Given the description of an element on the screen output the (x, y) to click on. 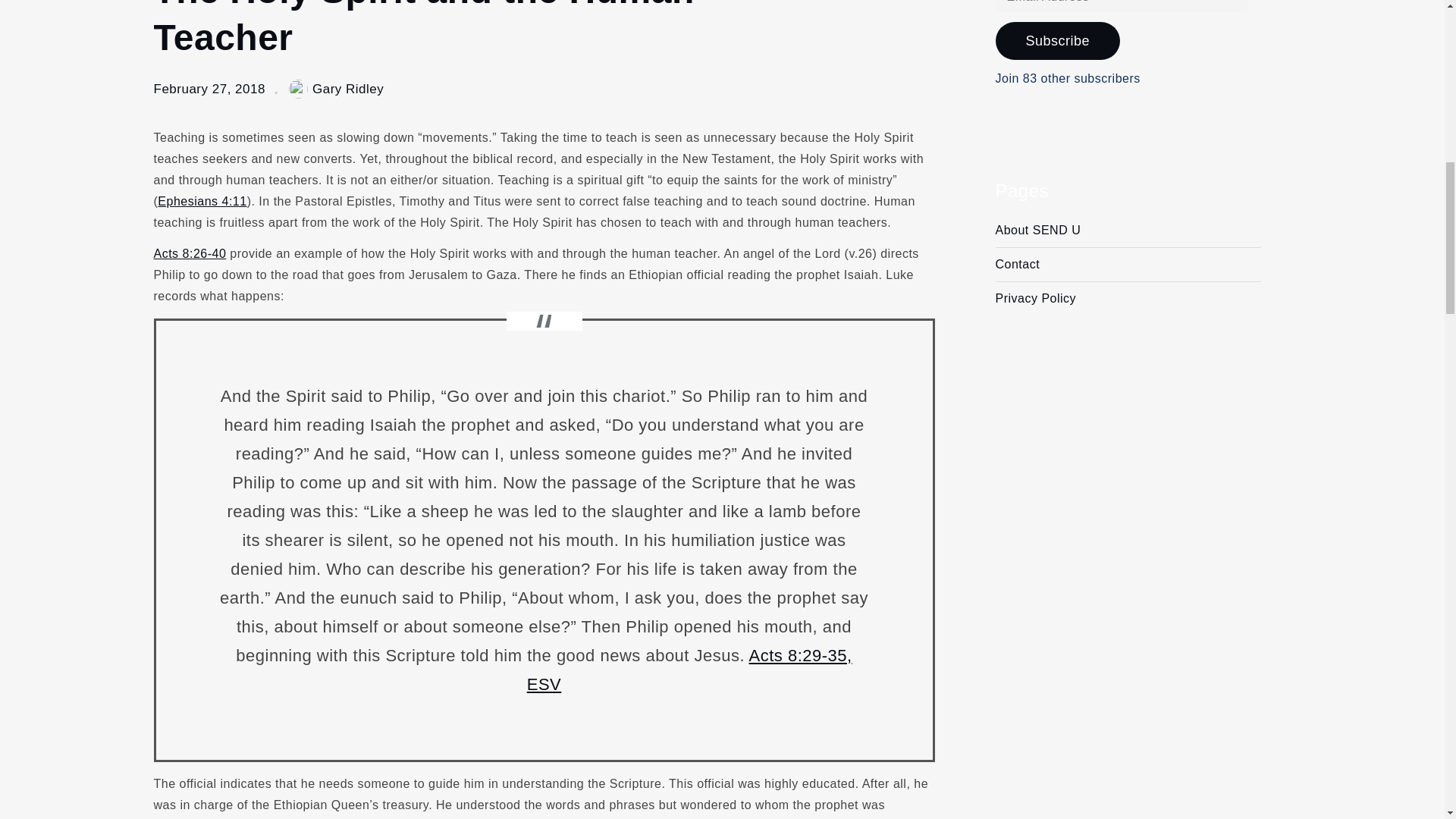
February 27, 2018 (208, 88)
Gary Ridley (336, 88)
Acts 8:29-35, ESV (689, 669)
Acts 8:26-40 (188, 253)
Ephesians 4:11 (201, 201)
